Given the description of an element on the screen output the (x, y) to click on. 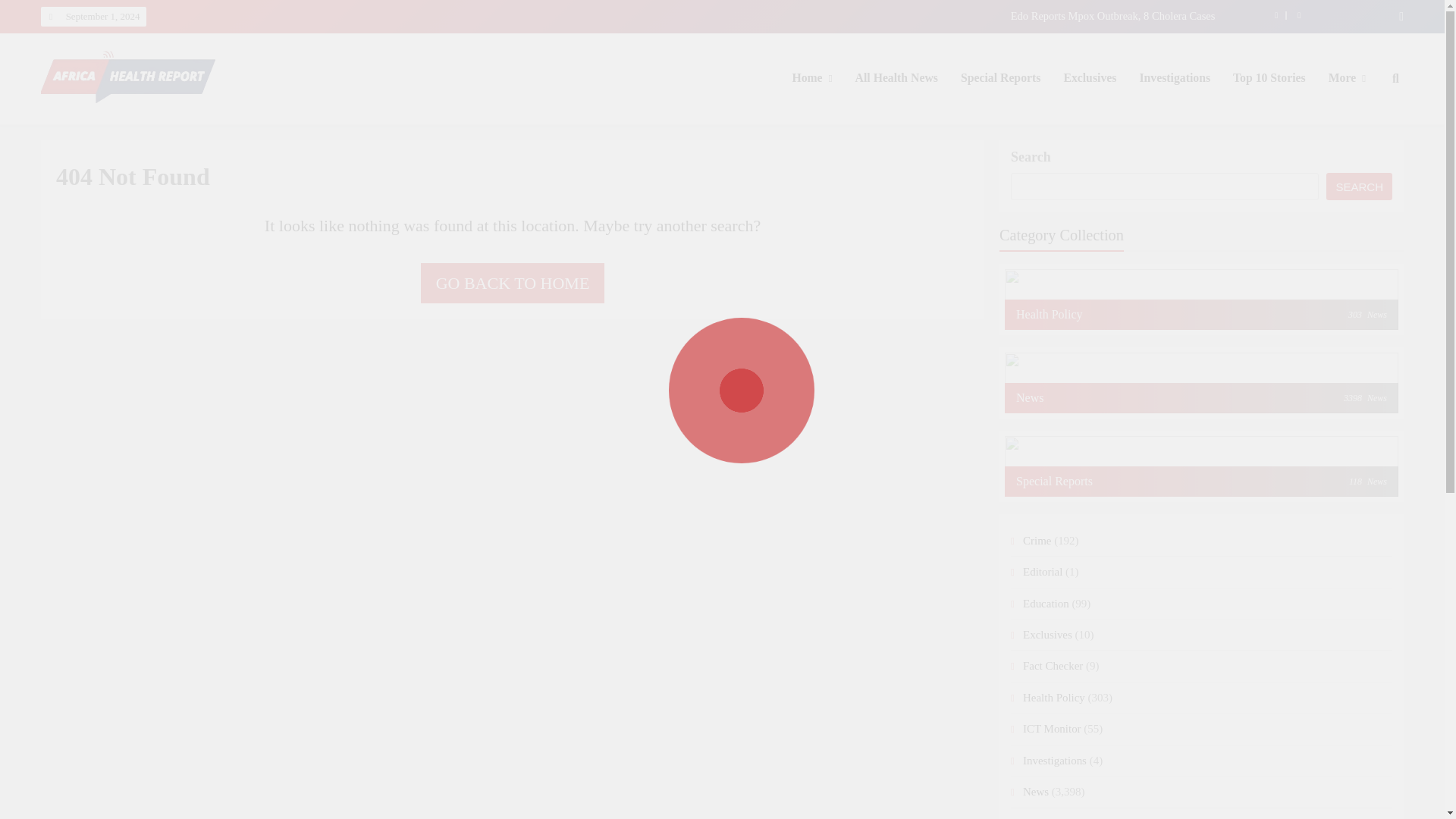
All Health News (896, 77)
Special Reports (1000, 77)
Edo Reports Mpox Outbreak, 8 Cholera Cases (763, 15)
Exclusives (1088, 77)
Investigations (1173, 77)
Home (811, 78)
Top 10 Stories (1269, 77)
More (1347, 78)
Africa Health Report (145, 125)
Edo Reports Mpox Outbreak, 8 Cholera Cases (763, 15)
